Given the description of an element on the screen output the (x, y) to click on. 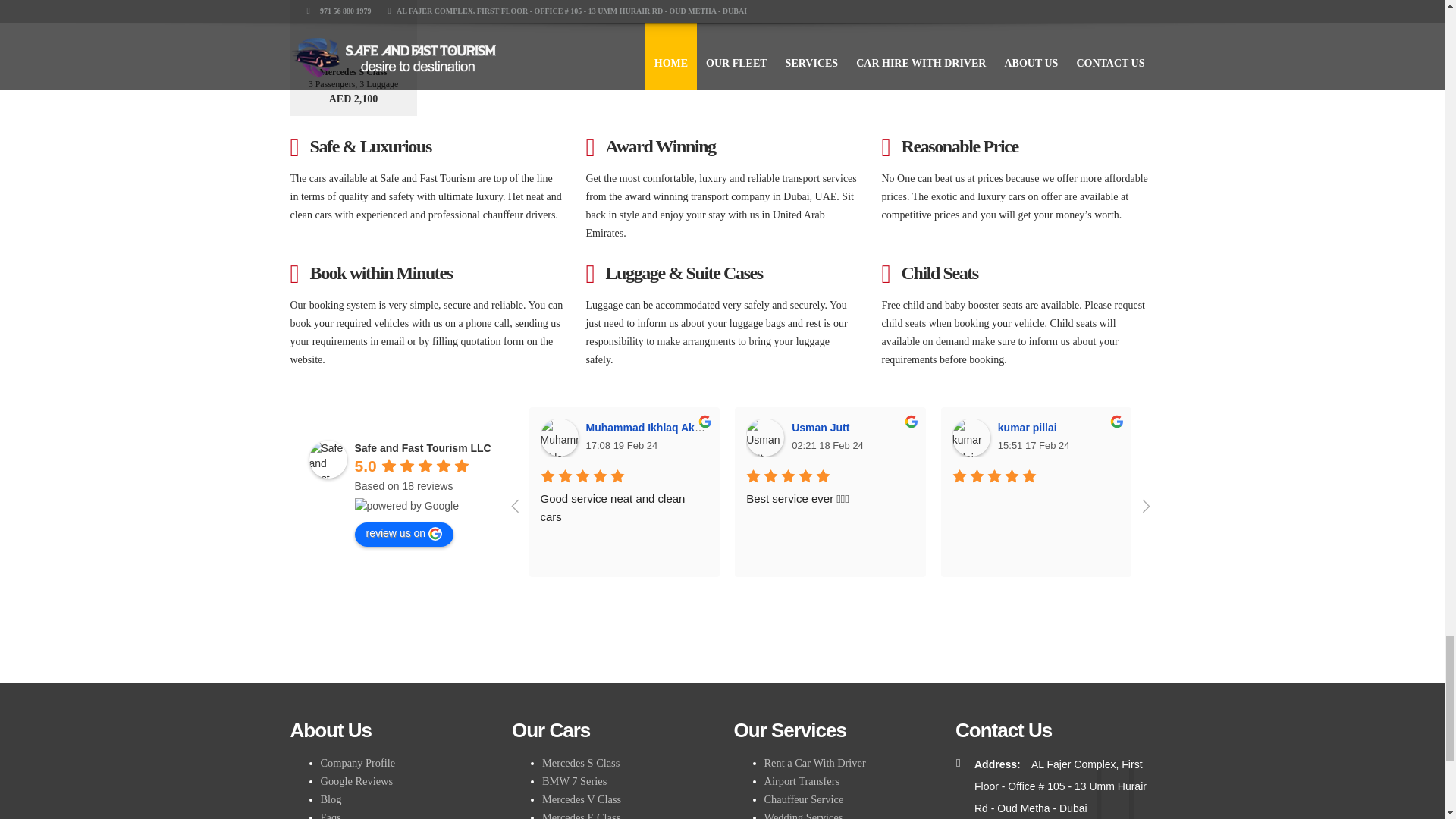
AED 2,100 (353, 98)
Usman Jutt (764, 437)
powered by Google (406, 505)
kumar pillai (971, 437)
3 Passengers, 3 Luggage (353, 83)
vyshak ramesh (1383, 437)
Muhammad Ikhlaq Akhtar (559, 437)
Mercedes S Class (353, 71)
Safe and Fast Tourism LLC (327, 459)
Jahanzaib Khan (1176, 437)
